Given the description of an element on the screen output the (x, y) to click on. 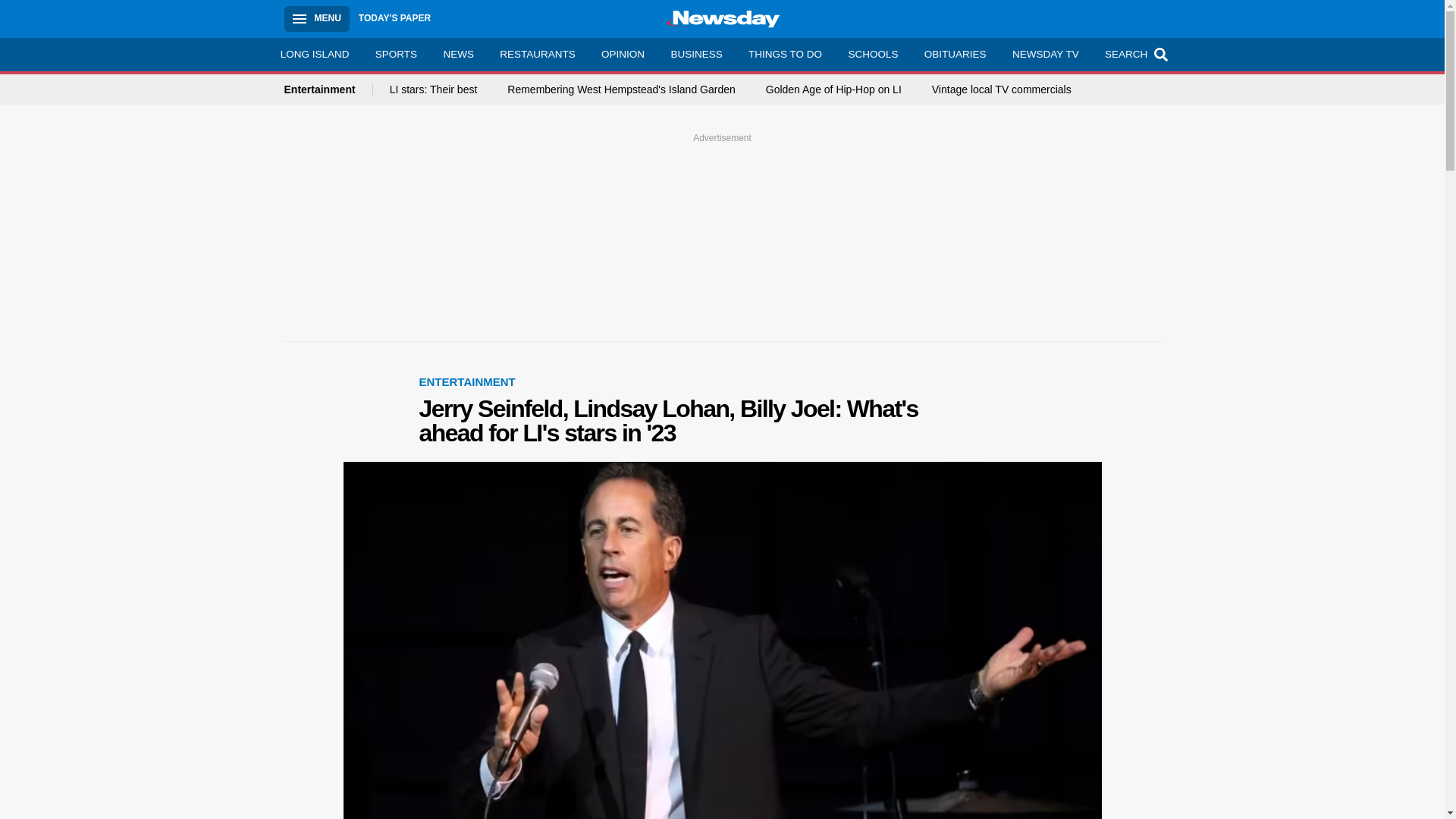
Remembering West Hempstead's Island Garden (620, 89)
Golden Age of Hip-Hop on LI (833, 89)
SEARCH (1134, 54)
Entertainment (327, 89)
OBITUARIES (954, 54)
ENTERTAINMENT (467, 381)
TODAY'S PAPER (394, 18)
NEWS (457, 54)
BUSINESS (696, 54)
LI stars: Their best (433, 89)
